Given the description of an element on the screen output the (x, y) to click on. 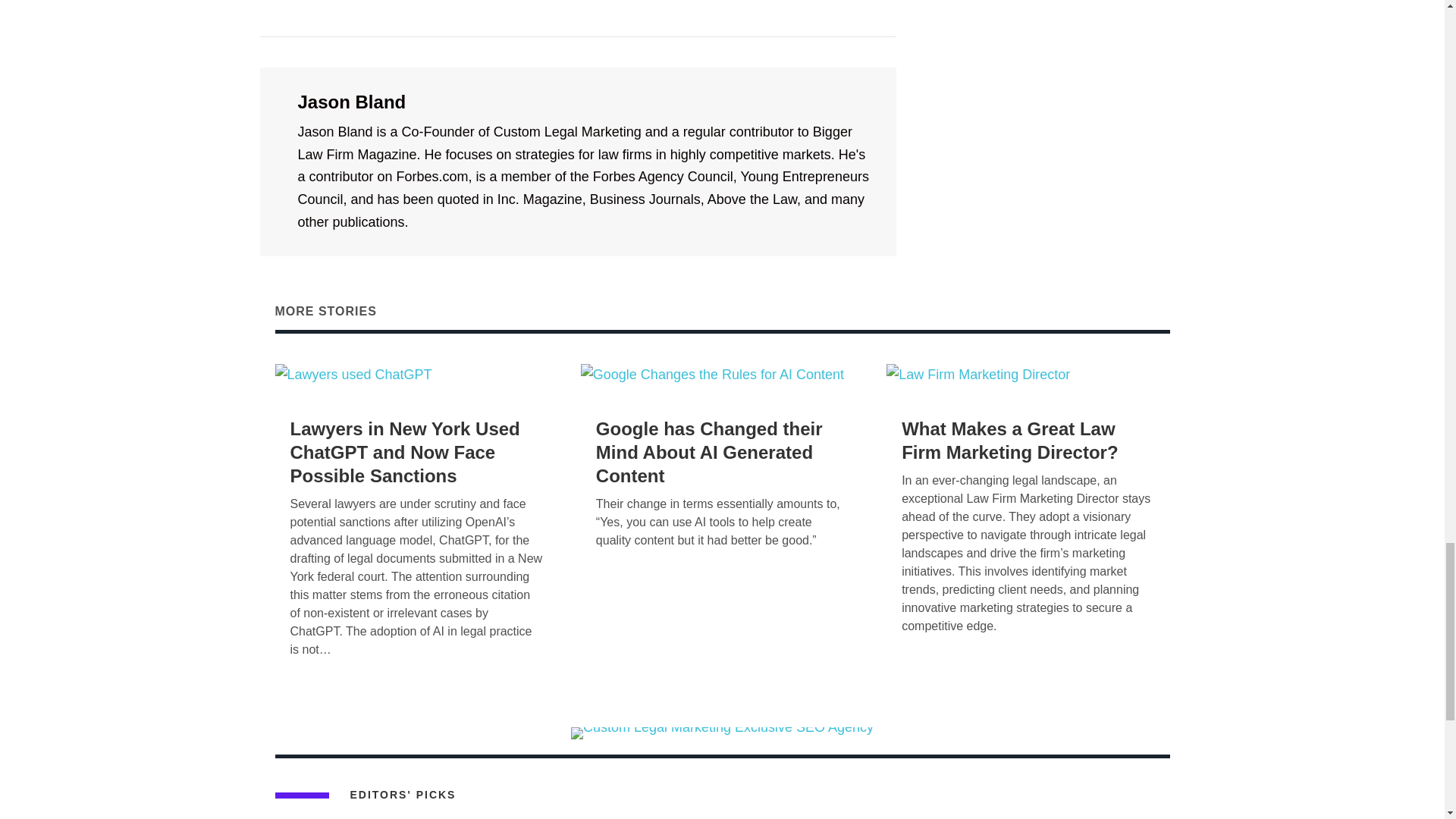
Google has Changed their Mind About AI Generated Content (712, 374)
Custom Legal Marketing Exclusive SEO Agency (721, 733)
What Makes a Great Law Firm Marketing Director? (978, 374)
Google has Changed their Mind About AI Generated Content (708, 452)
What Makes a Great Law Firm Marketing Director? (1009, 440)
